Given the description of an element on the screen output the (x, y) to click on. 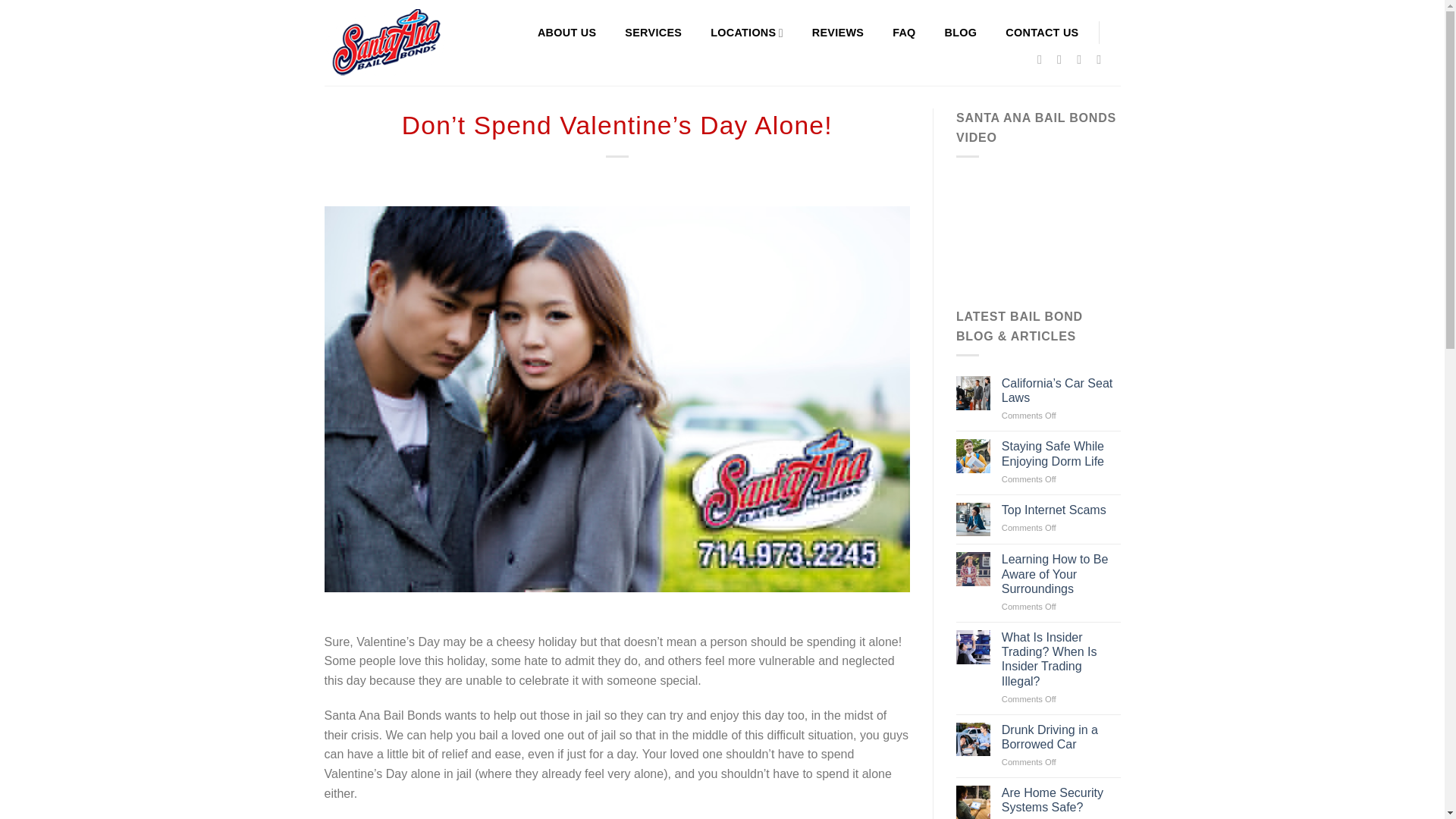
Staying Safe While Enjoying Dorm Life (1061, 452)
BLOG (960, 32)
ABOUT US (566, 32)
LOCATIONS (746, 32)
Drunk Driving in a Borrowed Car (1061, 736)
What Is Insider Trading? When Is Insider Trading Illegal? (1061, 658)
REVIEWS (837, 32)
SERVICES (652, 32)
Learning How to Be Aware of Your Surroundings (1061, 574)
Top Internet Scams (1061, 509)
